Given the description of an element on the screen output the (x, y) to click on. 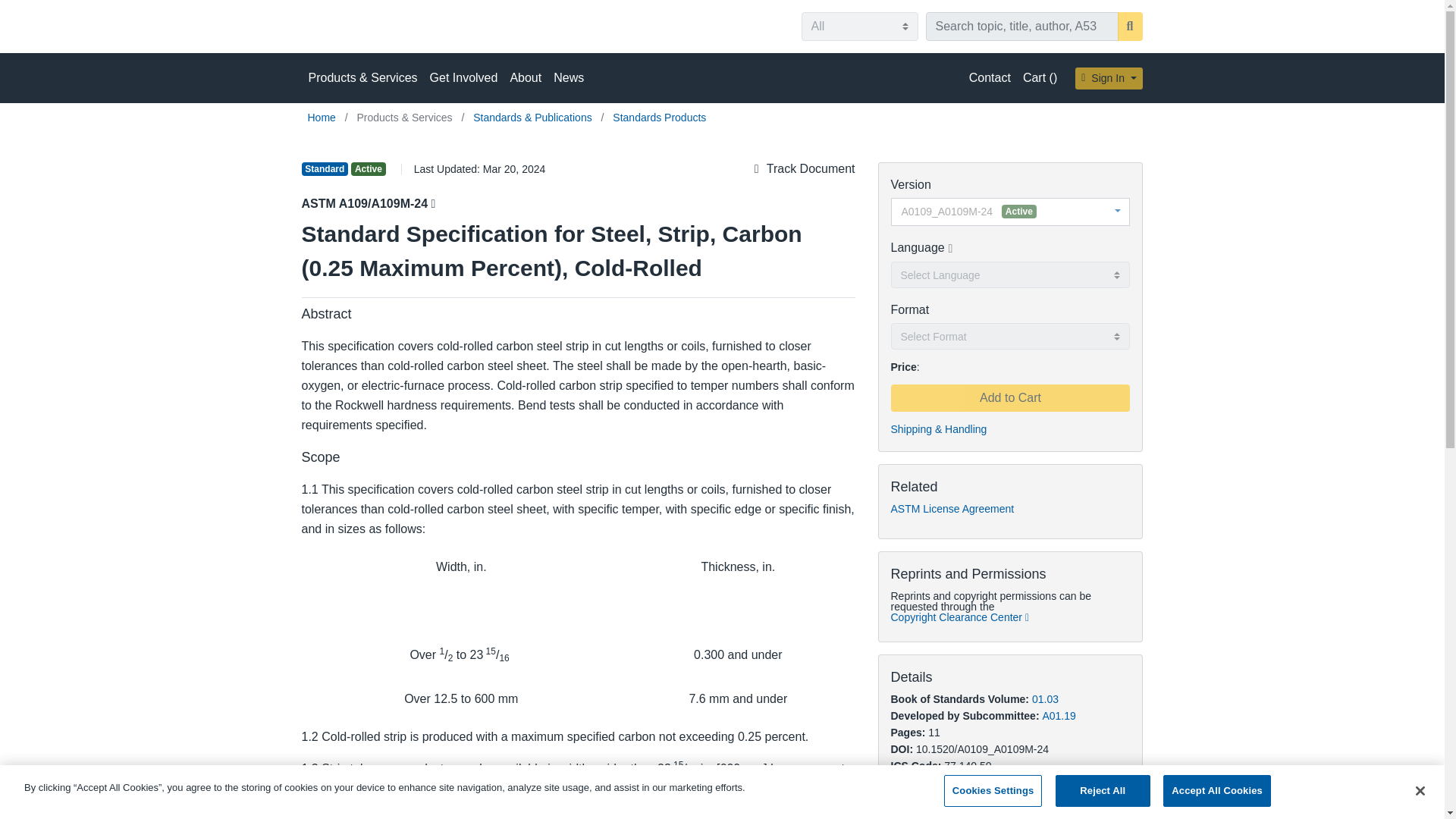
All (858, 26)
Add to Cart (1009, 397)
Go to Home Page (323, 117)
